Given the description of an element on the screen output the (x, y) to click on. 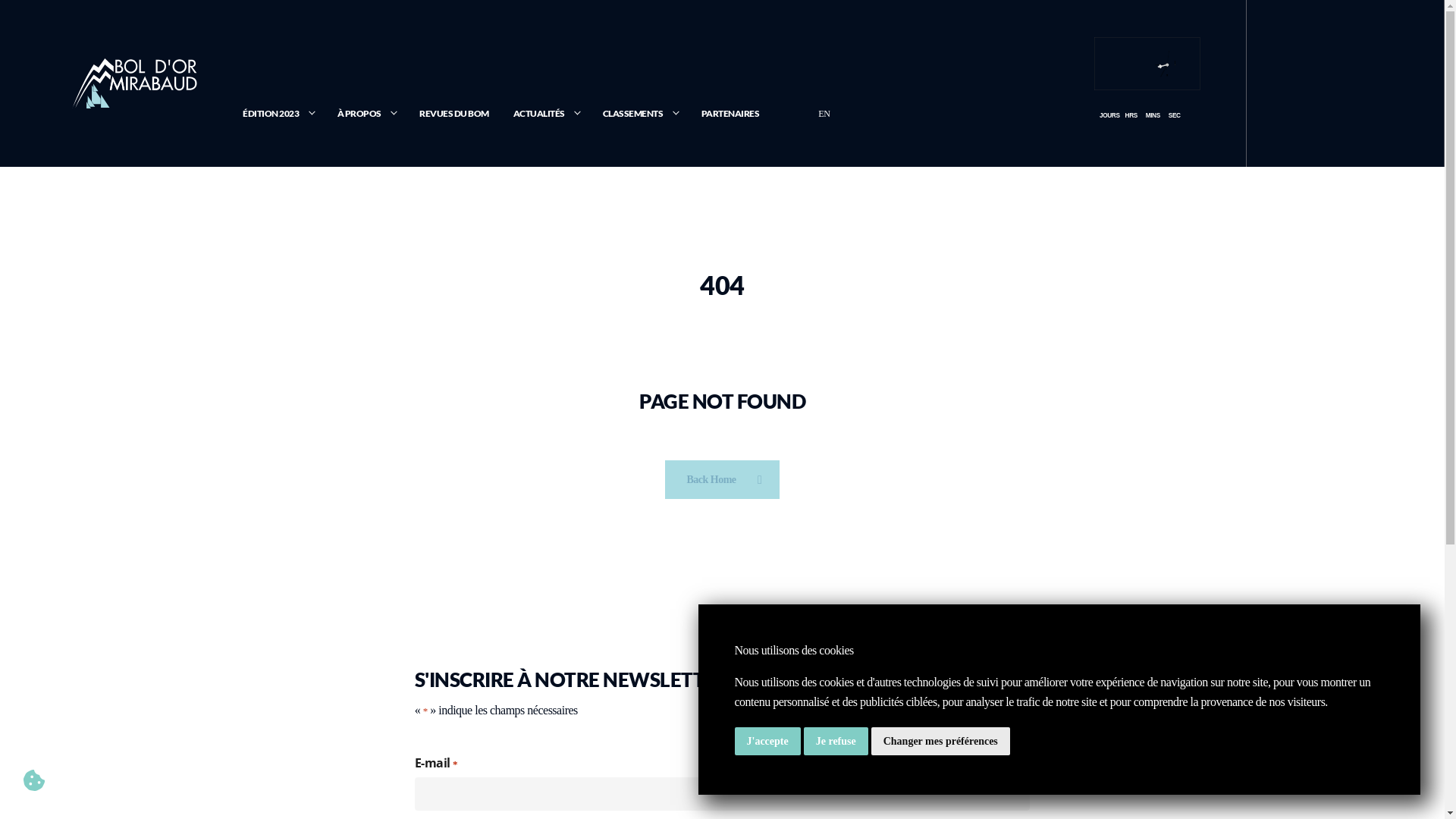
J'accepte Element type: text (767, 741)
Back Home Element type: text (721, 479)
Je refuse Element type: text (835, 741)
REVUES DU BOM Element type: text (454, 113)
CLASSEMENTS Element type: text (639, 113)
PARTENAIRES Element type: text (730, 113)
EN Element type: text (823, 113)
